Given the description of an element on the screen output the (x, y) to click on. 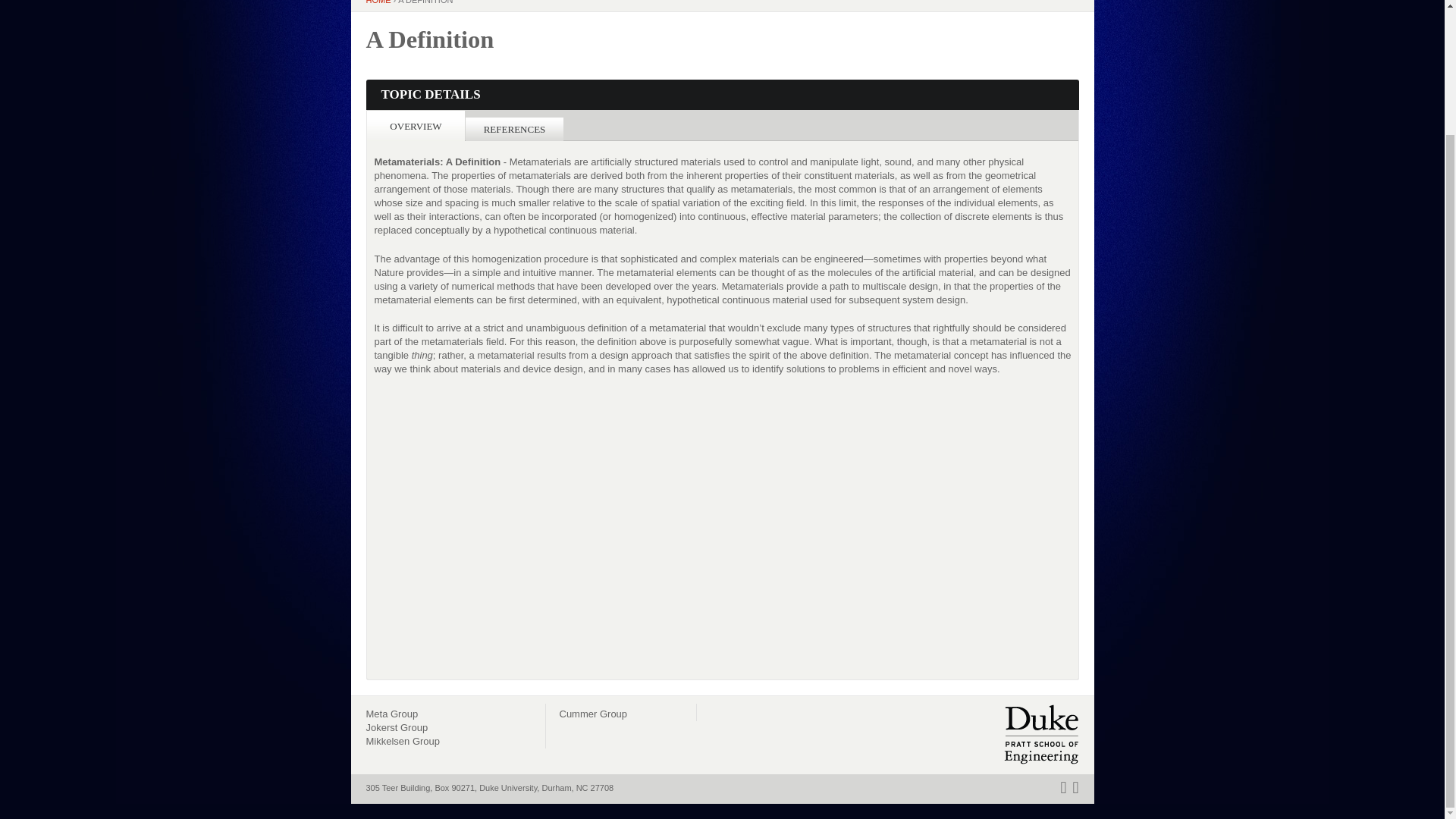
Cummer Group (593, 713)
Meta Group (391, 713)
Mikkelsen Group (402, 740)
OVERVIEW (415, 125)
REFERENCES (514, 129)
Jokerst Group (396, 727)
HOME (377, 2)
